Given the description of an element on the screen output the (x, y) to click on. 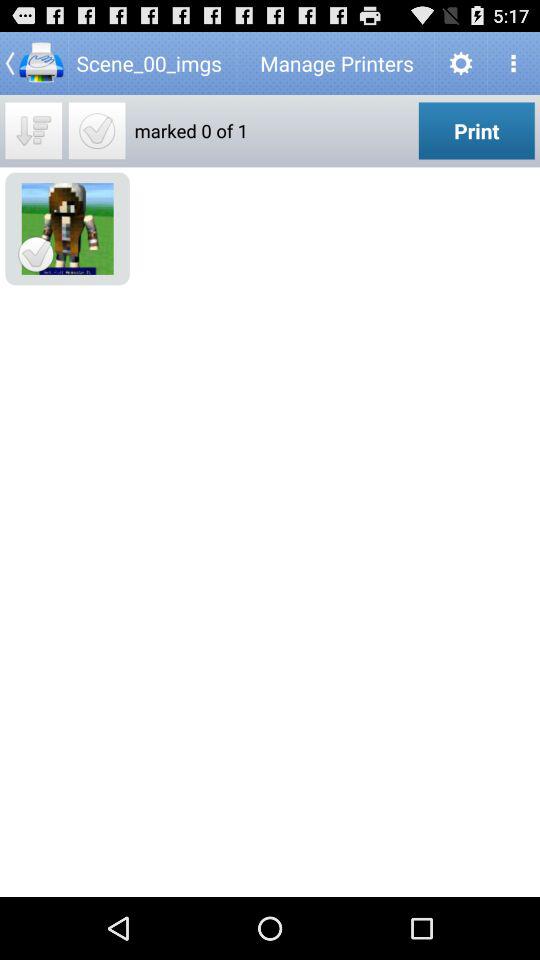
launch the app to the left of the marked 0 of app (96, 130)
